Given the description of an element on the screen output the (x, y) to click on. 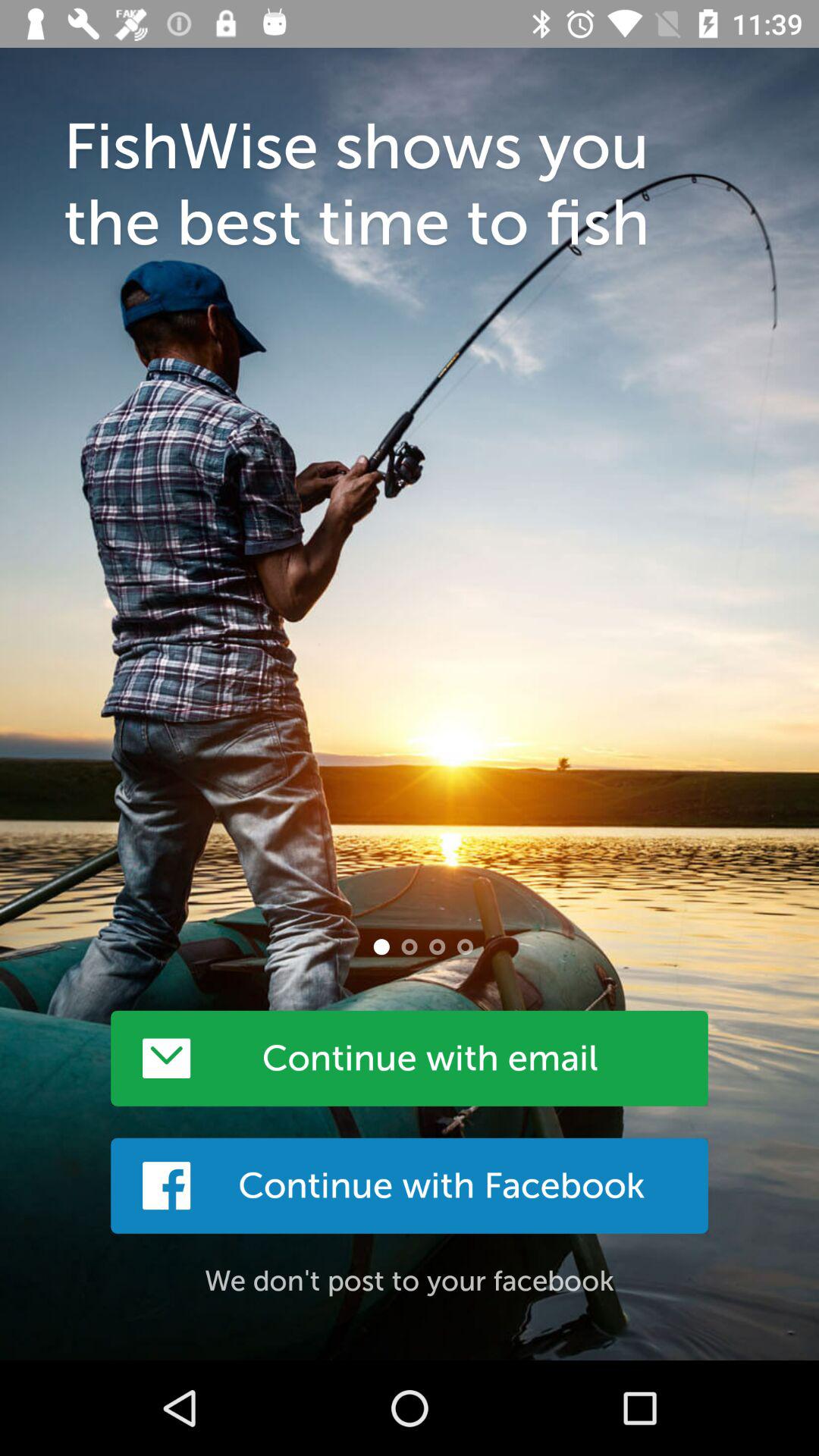
turn off the item below fishwise shows you item (381, 946)
